Given the description of an element on the screen output the (x, y) to click on. 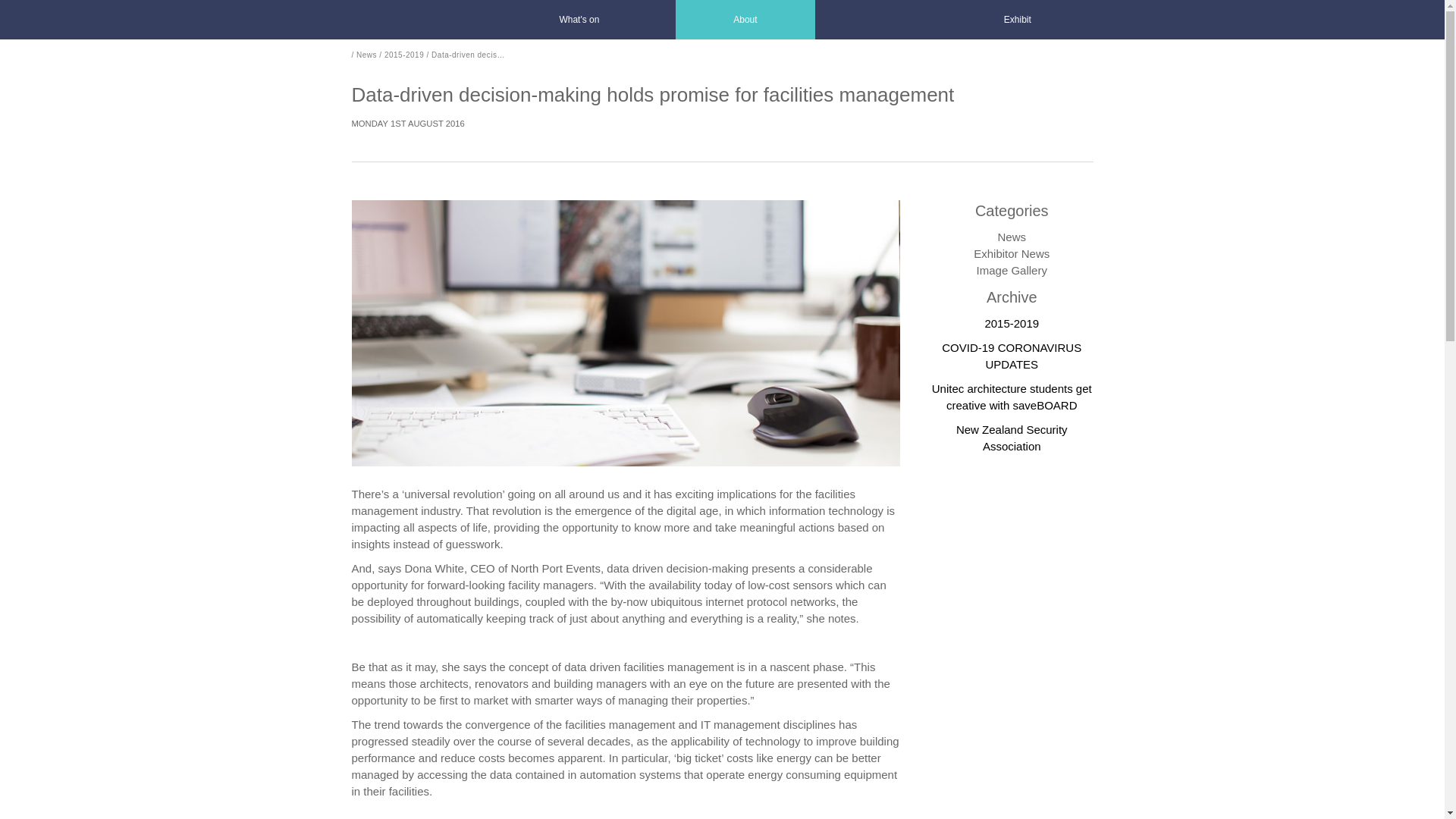
What's on at  (745, 19)
Search  (910, 19)
About (745, 19)
Unitec architecture students get creative with saveBOARD (1011, 396)
Exhibitor info (1017, 19)
2015-2019 (1011, 323)
Exhibit (1017, 19)
COVID-19 CORONAVIRUS UPDATES (1011, 356)
Contact  (847, 19)
Go to  home page (386, 19)
What's on at  (579, 19)
New Zealand Security Association (1011, 437)
2015-2019 (403, 54)
News (366, 54)
What's on (579, 19)
